Given the description of an element on the screen output the (x, y) to click on. 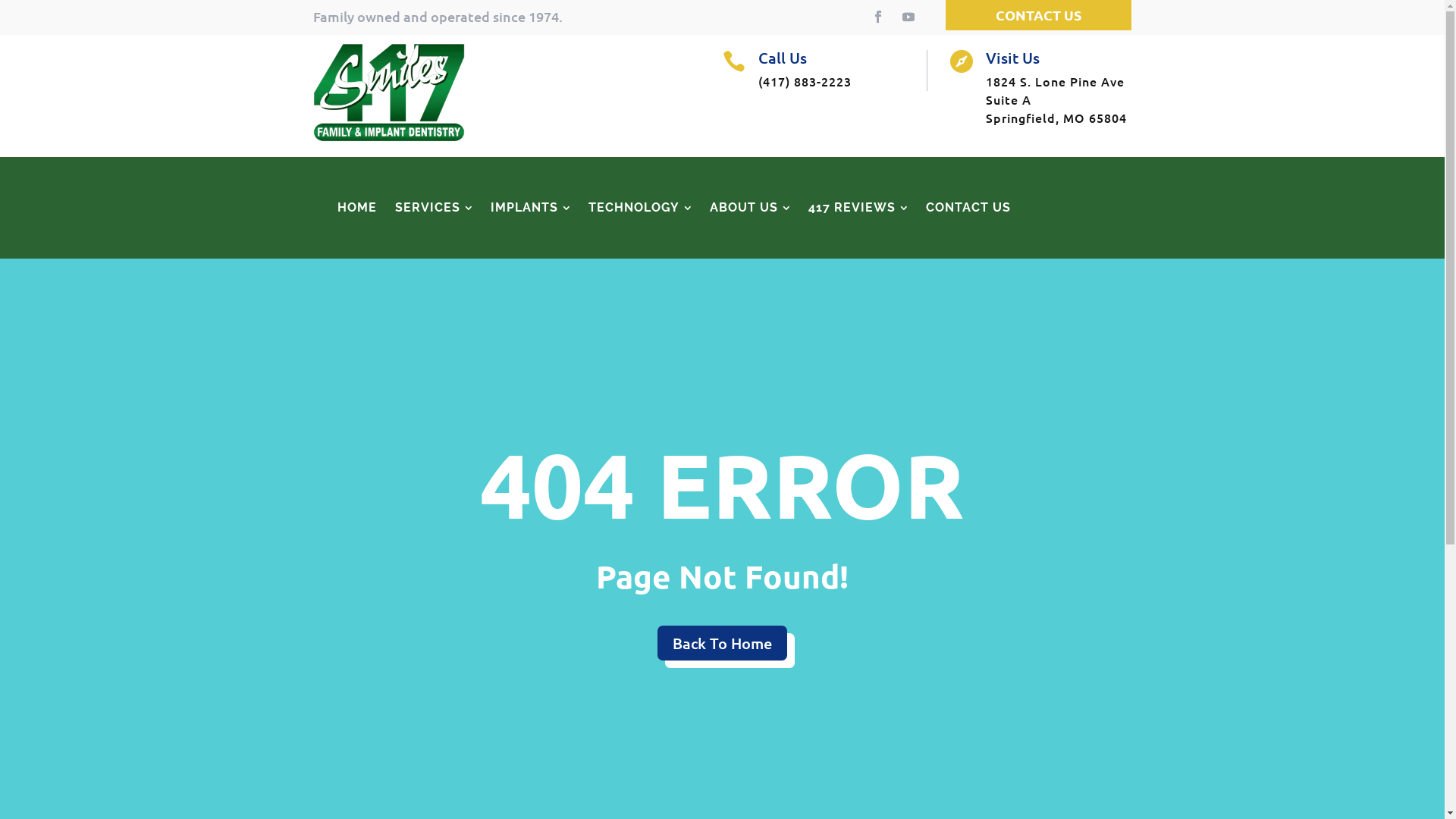
CONTACT US Element type: text (967, 207)
Follow on Facebook Element type: hover (878, 16)
Call Us Element type: text (782, 57)
ABOUT US Element type: text (749, 207)
HOME Element type: text (356, 207)
IMPLANTS Element type: text (529, 207)
SERVICES Element type: text (432, 207)
Follow on Youtube Element type: hover (908, 16)
417-smiles-logo-mobile Element type: hover (388, 91)
417 REVIEWS Element type: text (857, 207)
TECHNOLOGY Element type: text (639, 207)
Back To Home Element type: text (722, 642)
